Given the description of an element on the screen output the (x, y) to click on. 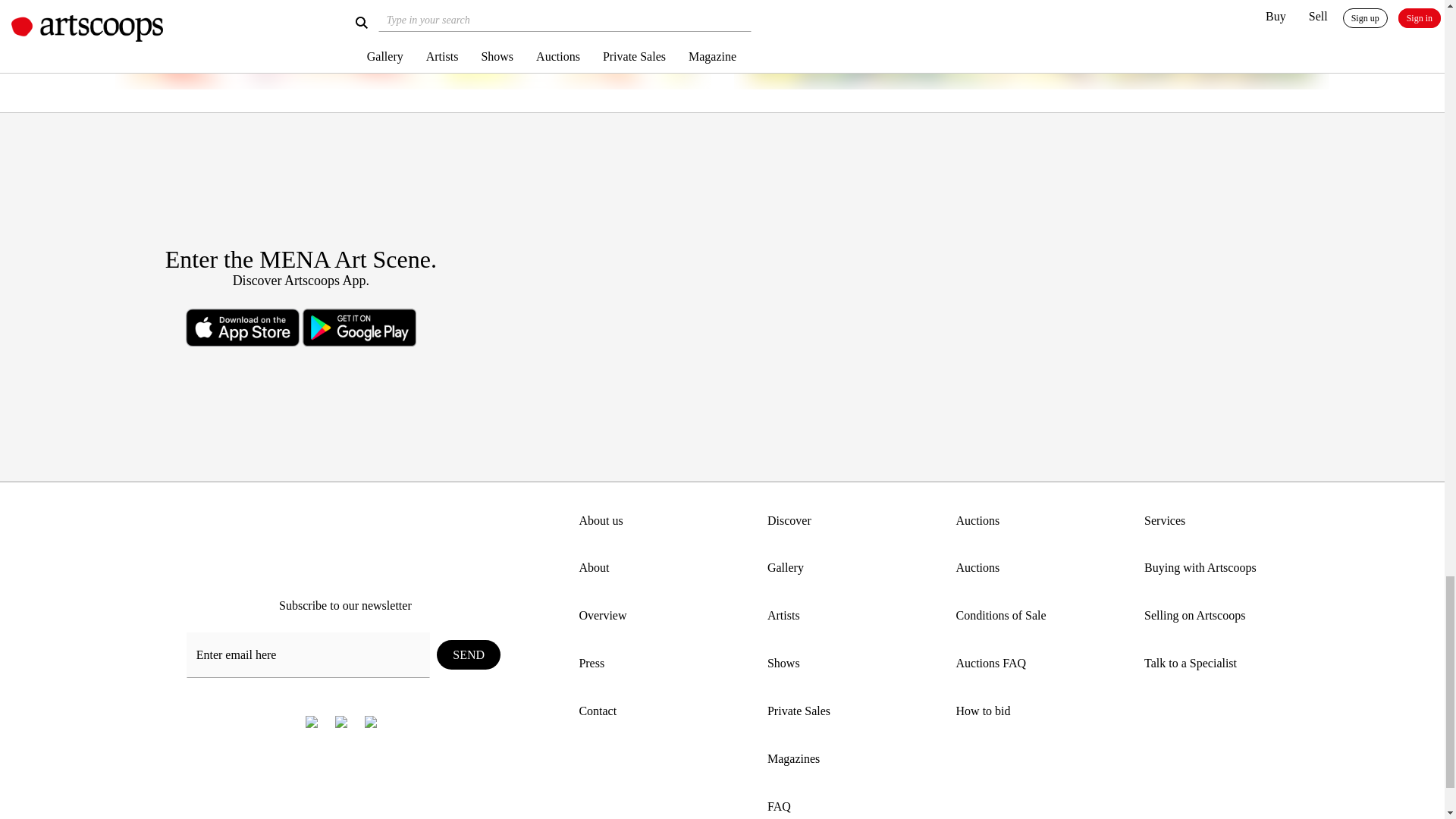
LinkedIn (370, 721)
Instagram (340, 721)
Facebook (311, 721)
